Given the description of an element on the screen output the (x, y) to click on. 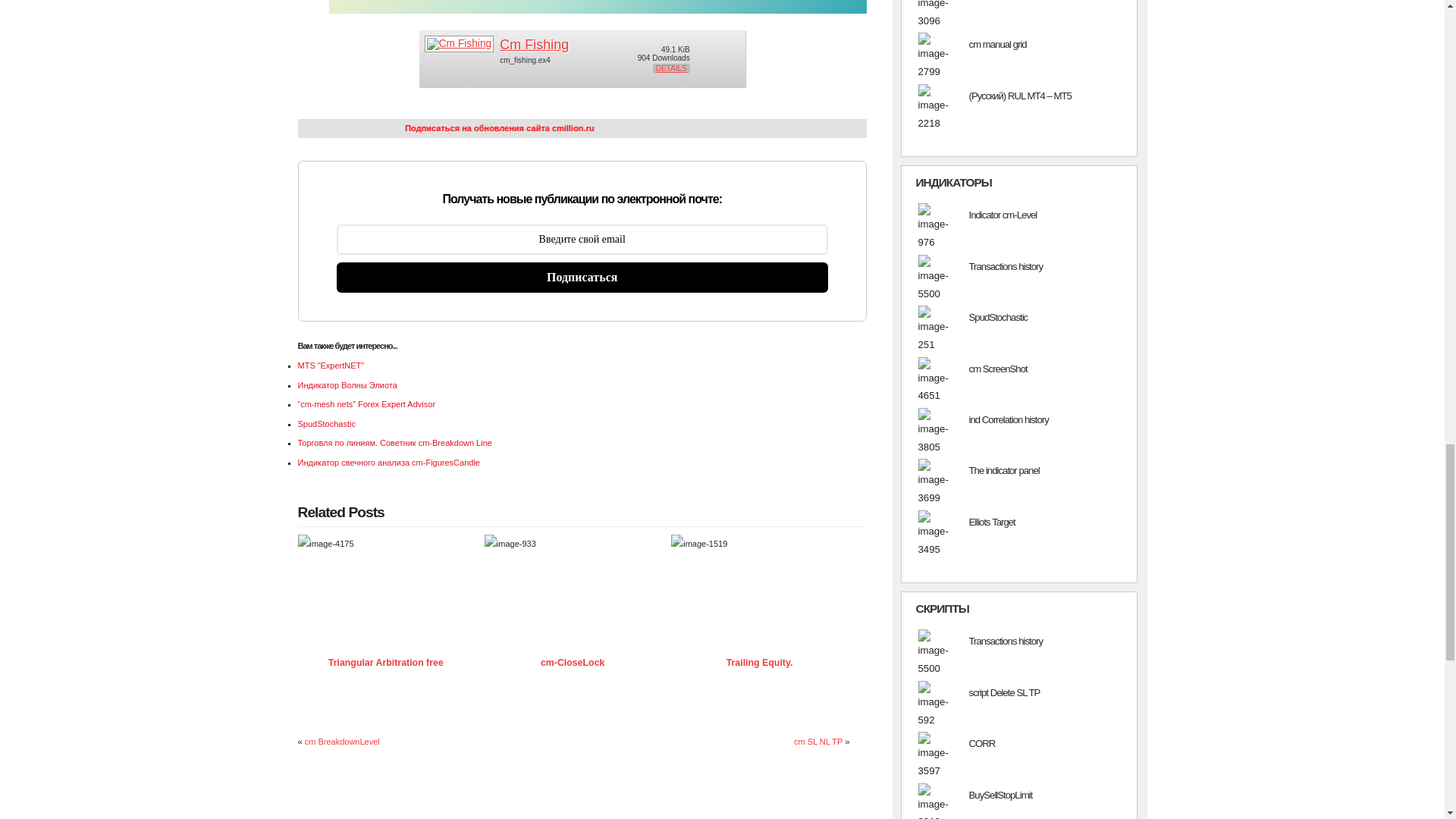
cm-CloseLock (572, 662)
Triangular Arbitration free (386, 662)
cm-CloseLock (572, 662)
cm BreakdownLevel (342, 741)
Triangular Arbitration free (391, 544)
cm-CloseLock (579, 544)
Download Cm Fishing (459, 40)
SpudStochastic (326, 423)
SpudStochastic (326, 423)
Download Cm Fishing (534, 44)
